Given the description of an element on the screen output the (x, y) to click on. 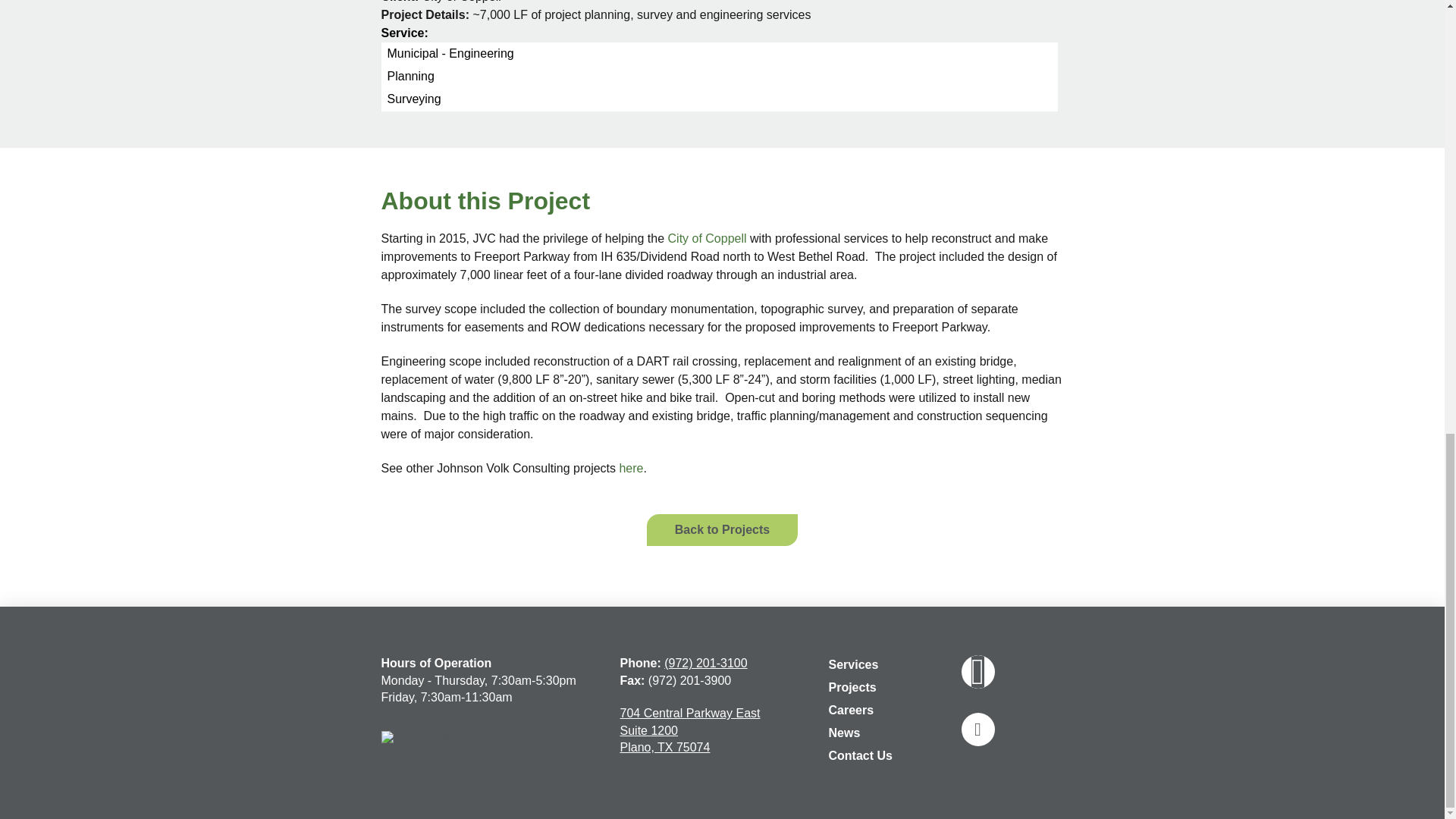
Back to Projects (721, 530)
Contact Us (860, 757)
Careers (851, 712)
Suite 1200 (649, 730)
here (630, 468)
News (844, 734)
704 Central Parkway East (690, 712)
Plano, TX 75074 (665, 747)
Projects (852, 689)
Services (853, 666)
